Given the description of an element on the screen output the (x, y) to click on. 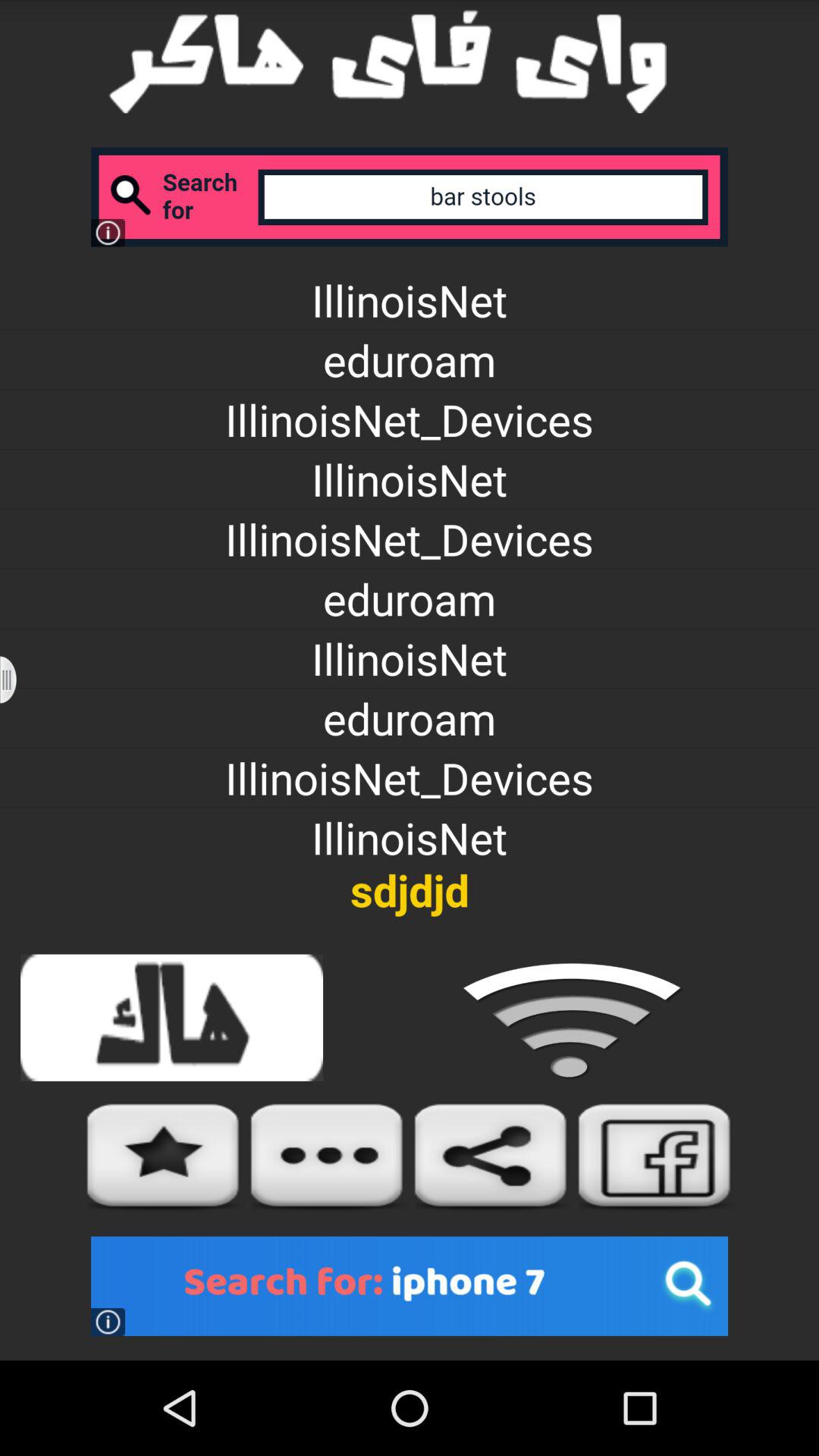
press icon to the left of illinoisnet icon (18, 679)
